Given the description of an element on the screen output the (x, y) to click on. 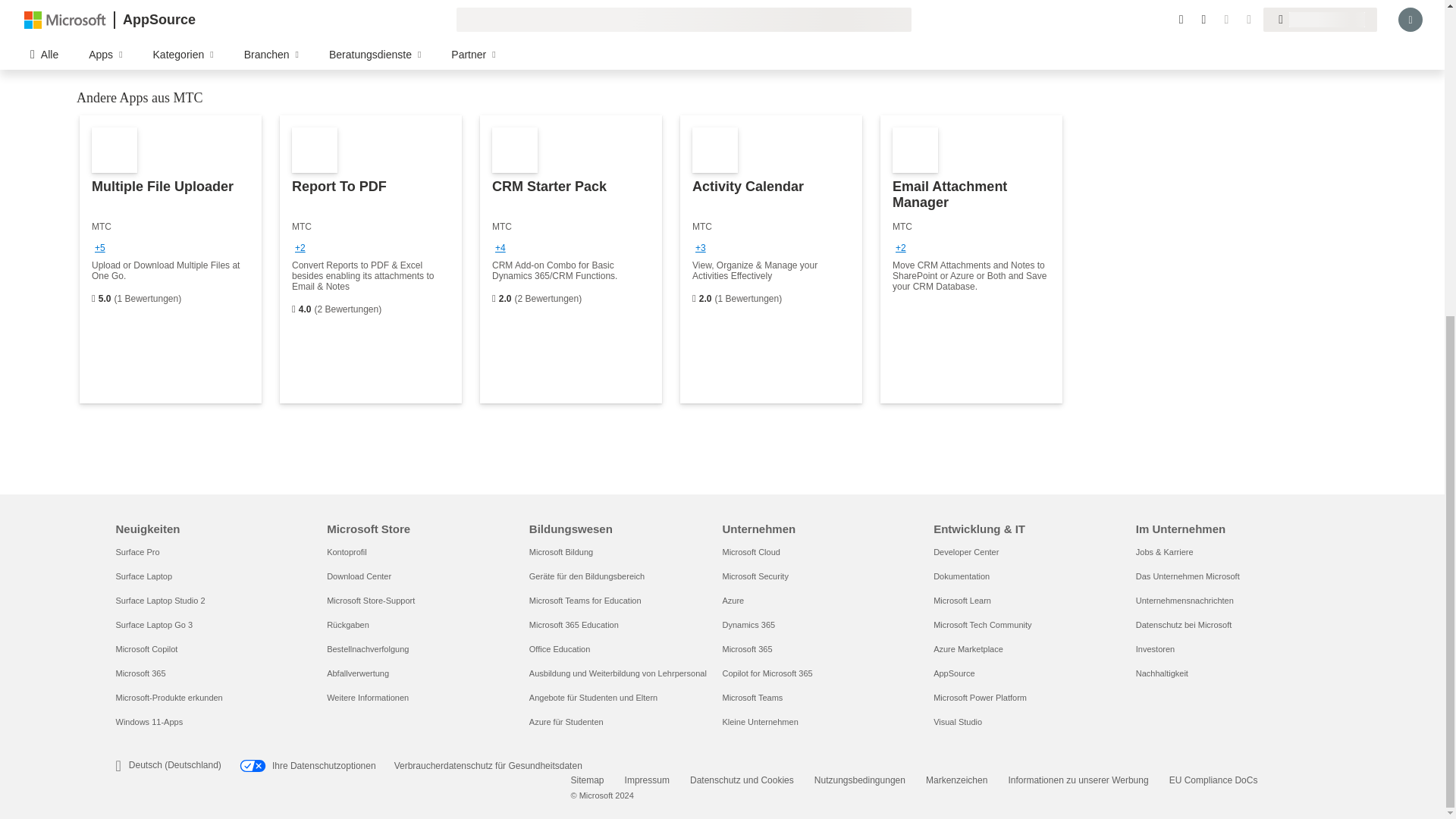
Weitere Informationen (367, 696)
Surface Pro (136, 551)
Microsoft-Produkte erkunden (168, 696)
Bewertungen (93, 298)
Microsoft Bildung (560, 551)
Multiple File Uploader (171, 259)
Bewertungen (694, 298)
Bestellnachverfolgung (367, 648)
Kontoprofil (346, 551)
Surface Laptop (143, 575)
Microsoft 365 (140, 673)
Activity Calendar (770, 259)
Surface Laptop Studio 2 (160, 600)
CRM Starter Pack (571, 259)
Surface Laptop Go 3 (153, 624)
